Given the description of an element on the screen output the (x, y) to click on. 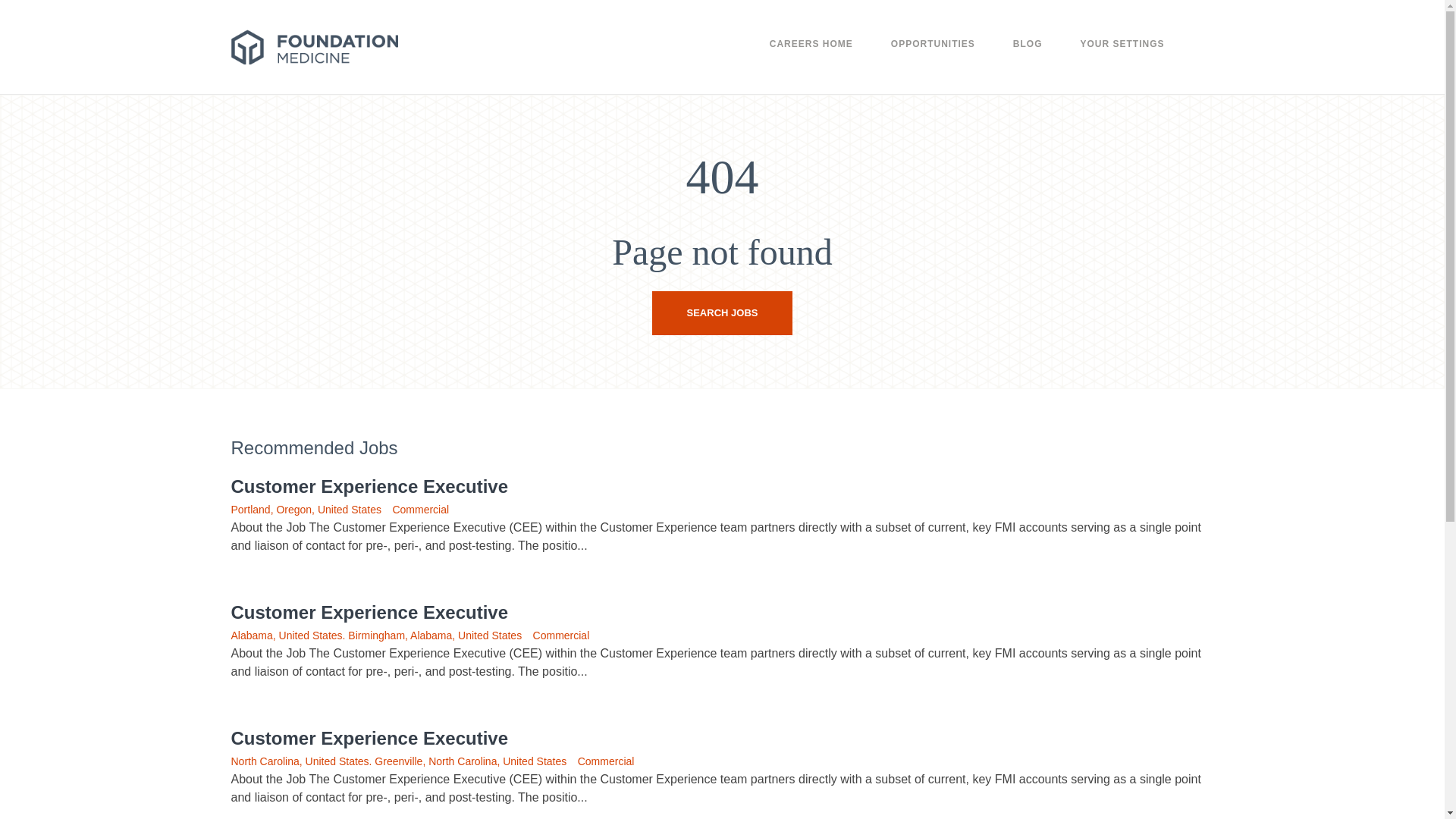
CAREERS HOME (811, 51)
YOUR SETTINGS (1121, 51)
SEARCH JOBS (722, 312)
OPPORTUNITIES (933, 51)
